Given the description of an element on the screen output the (x, y) to click on. 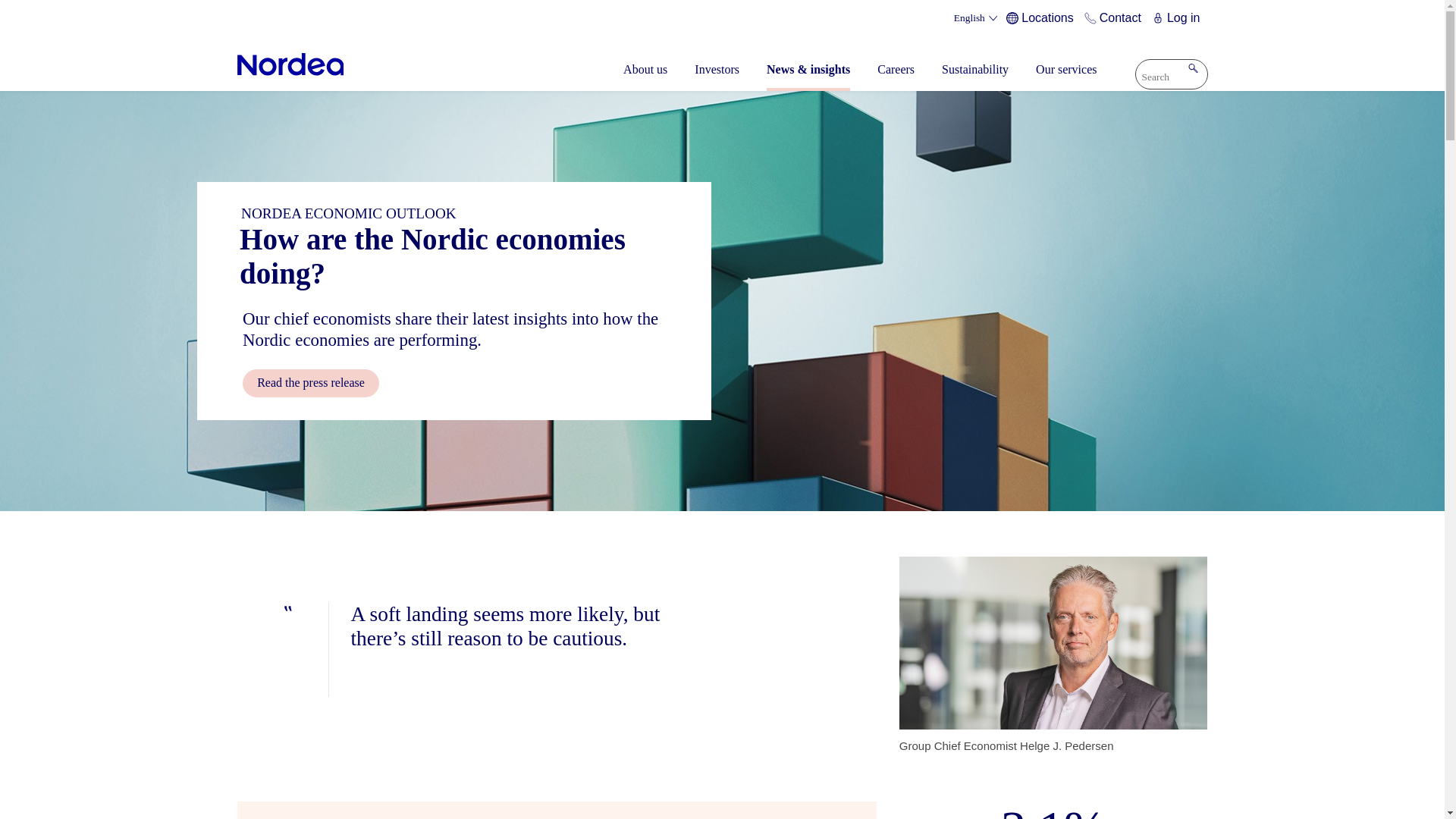
Nordea (289, 64)
English (977, 18)
Contact (1114, 18)
Locations (1042, 18)
Log in (1178, 18)
Skip to main content (721, 1)
